Given the description of an element on the screen output the (x, y) to click on. 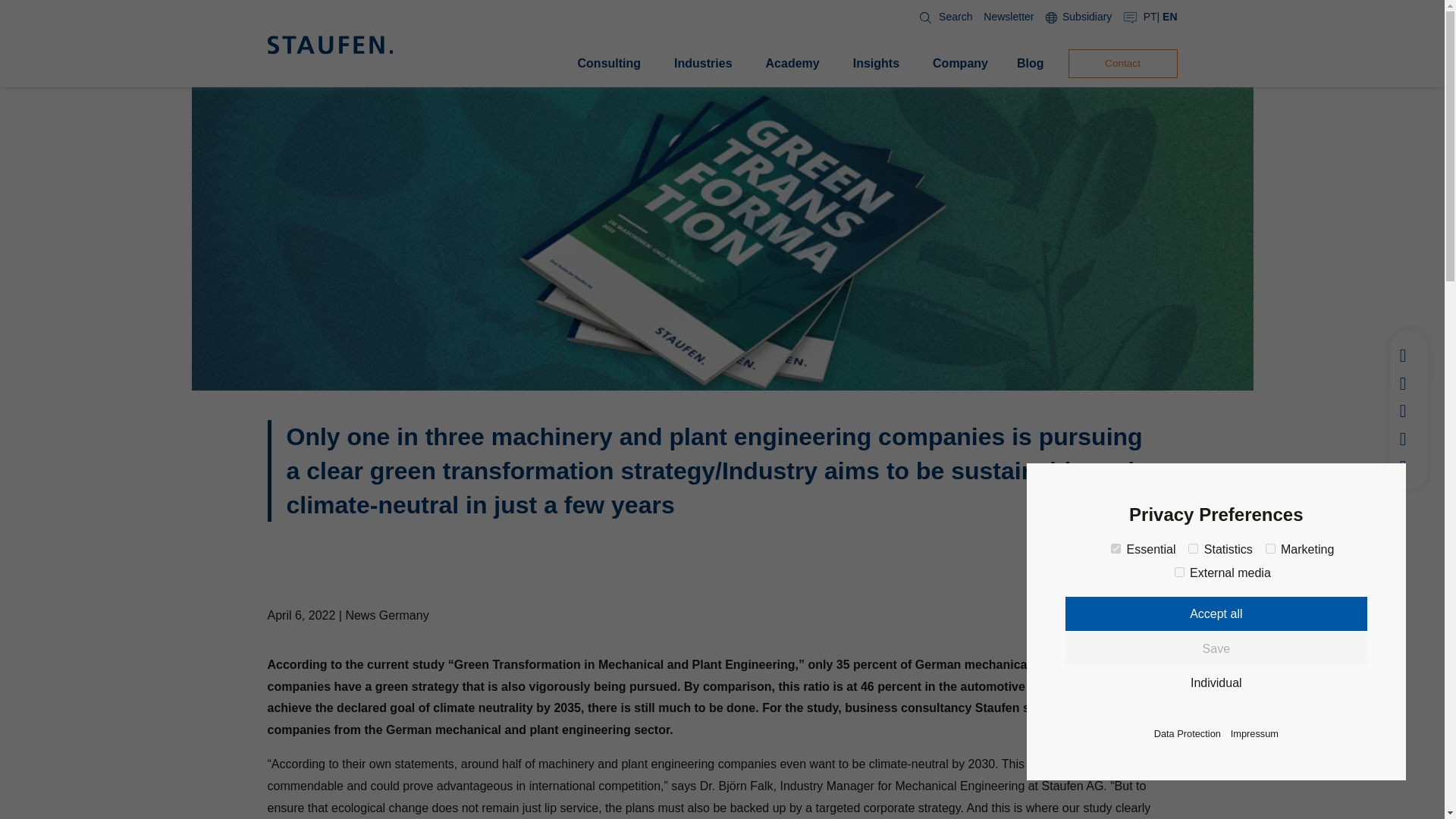
on (1179, 572)
Industries (702, 63)
on (1193, 548)
Newsletter (1008, 16)
Consulting (609, 63)
Company (960, 63)
on (1270, 548)
Academy (792, 63)
on (1115, 548)
Insights (876, 63)
Search (942, 16)
Blog (1029, 63)
EN (1168, 16)
Contact (1121, 63)
PT (1149, 16)
